Given the description of an element on the screen output the (x, y) to click on. 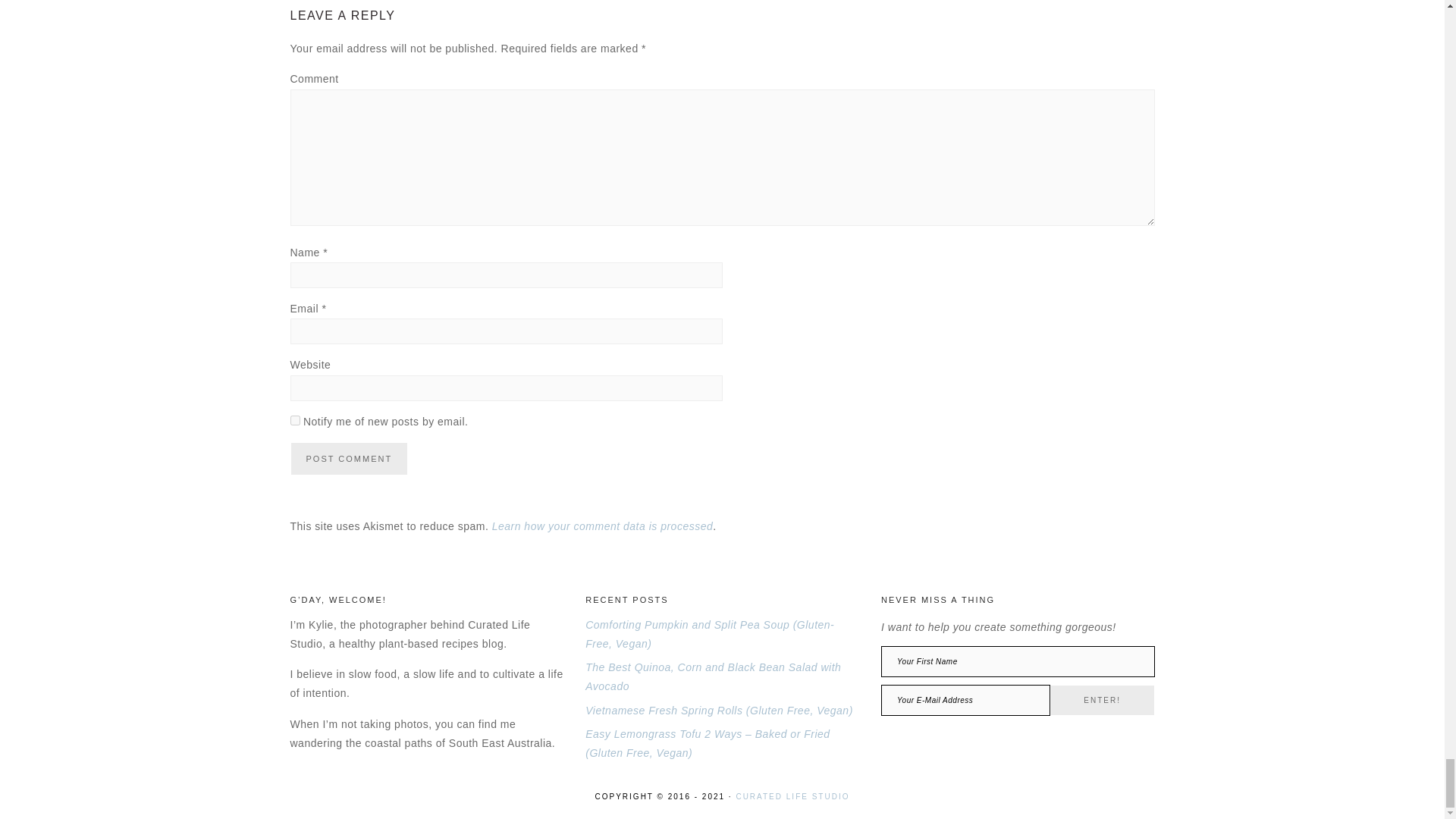
Post Comment (348, 458)
Enter! (1101, 699)
subscribe (294, 420)
